Given the description of an element on the screen output the (x, y) to click on. 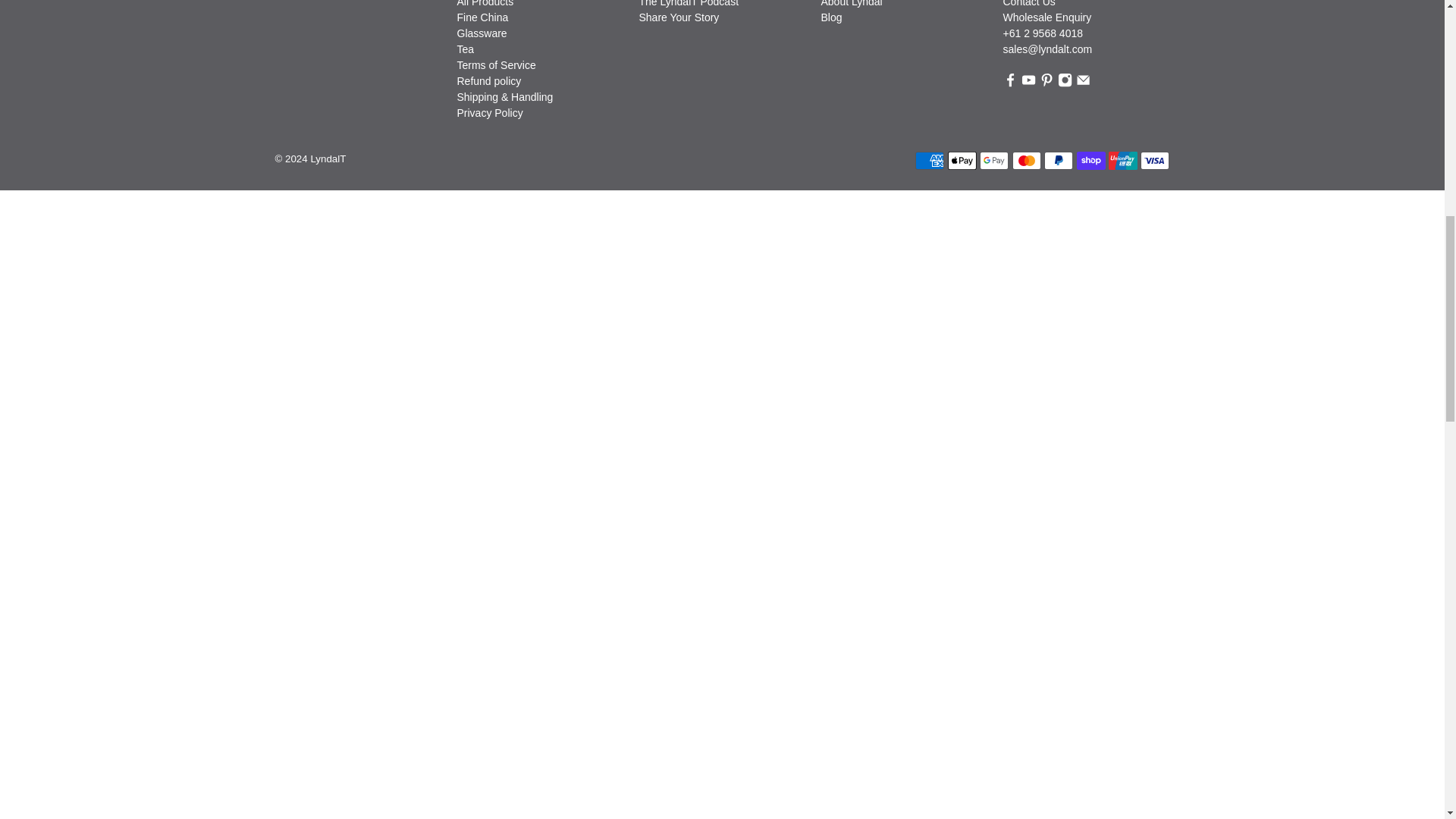
LyndalT on Instagram (1064, 82)
Wholesale Enquiry (1046, 17)
LyndalT on Facebook (1009, 82)
ETB (1135, 105)
LyndalT on Pinterest (1046, 82)
DZD (1135, 47)
Contact (1028, 3)
EUR (1135, 134)
EGP (1135, 76)
DKK (1135, 2)
LyndalT (324, 11)
DOP (1135, 18)
FKP (1135, 192)
FJD (1135, 163)
Email LyndalT (1082, 82)
